Given the description of an element on the screen output the (x, y) to click on. 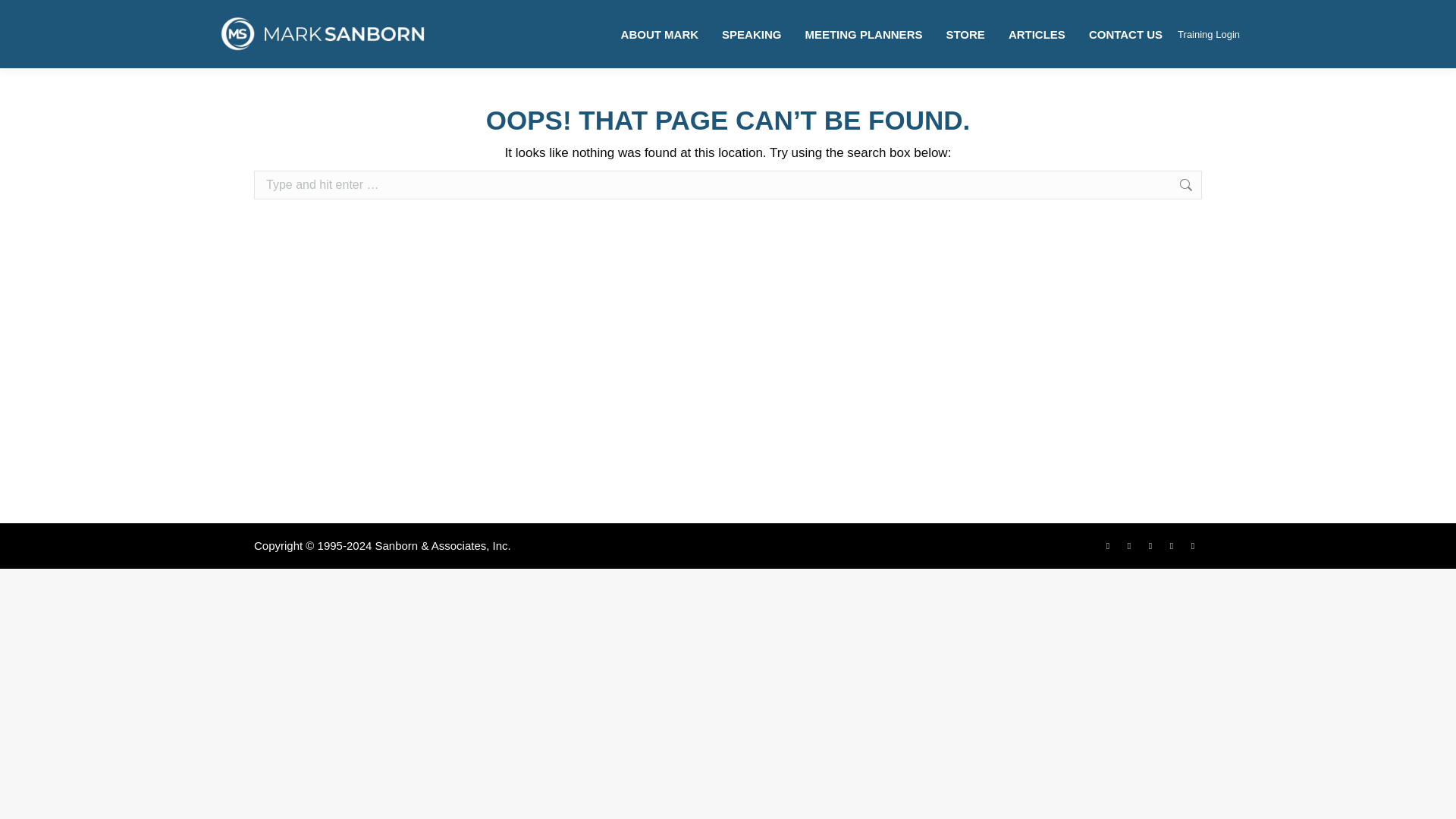
Go! (1225, 185)
MEETING PLANNERS (863, 34)
Training Login (1208, 33)
Go! (1225, 185)
ABOUT MARK (660, 34)
ARTICLES (1037, 34)
SPEAKING (751, 34)
STORE (964, 34)
CONTACT US (1125, 34)
